Given the description of an element on the screen output the (x, y) to click on. 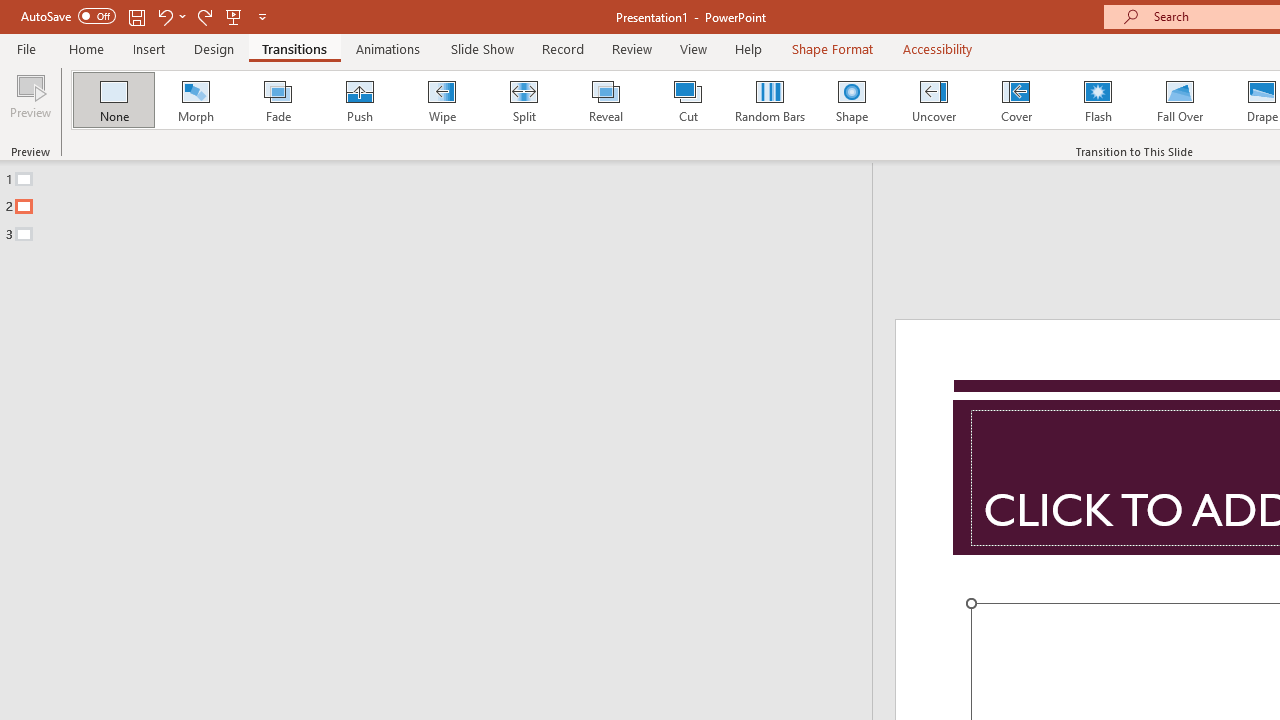
Push (359, 100)
Reveal (605, 100)
